Given the description of an element on the screen output the (x, y) to click on. 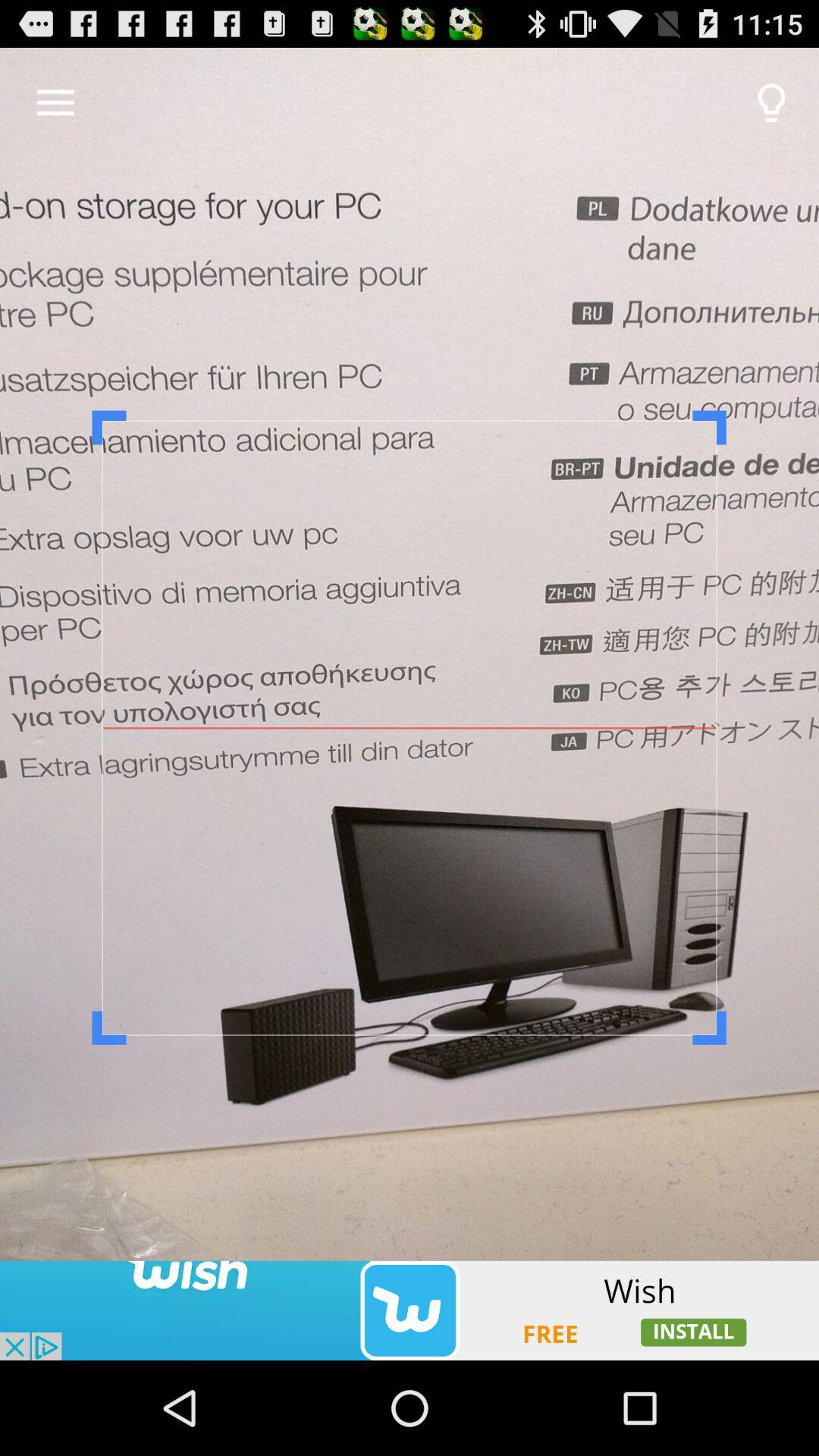
advertising bar (409, 1310)
